Given the description of an element on the screen output the (x, y) to click on. 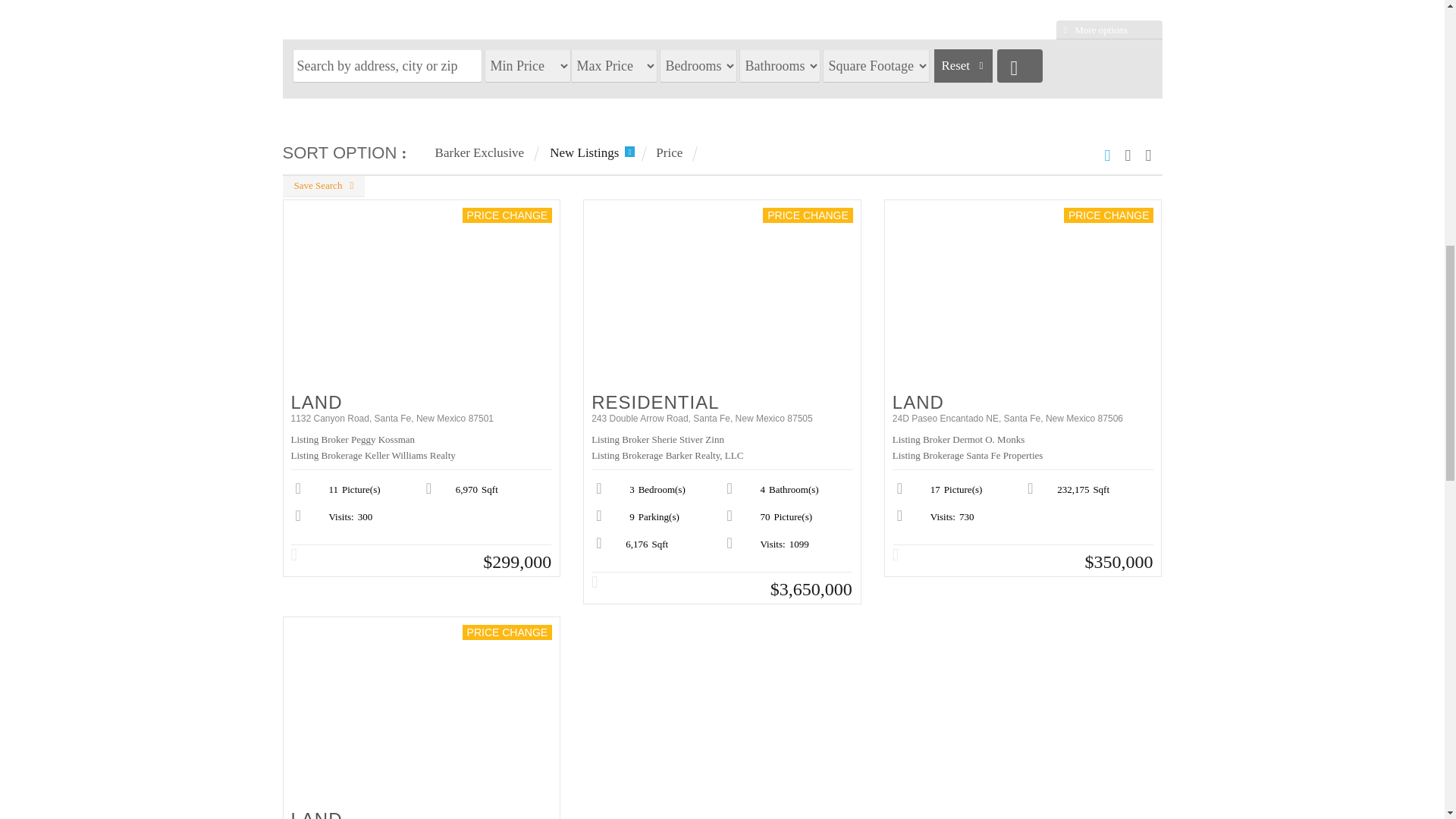
Search (1019, 65)
Land (422, 400)
Land (1023, 400)
Search (1019, 65)
Residential (722, 400)
Land (422, 812)
